Given the description of an element on the screen output the (x, y) to click on. 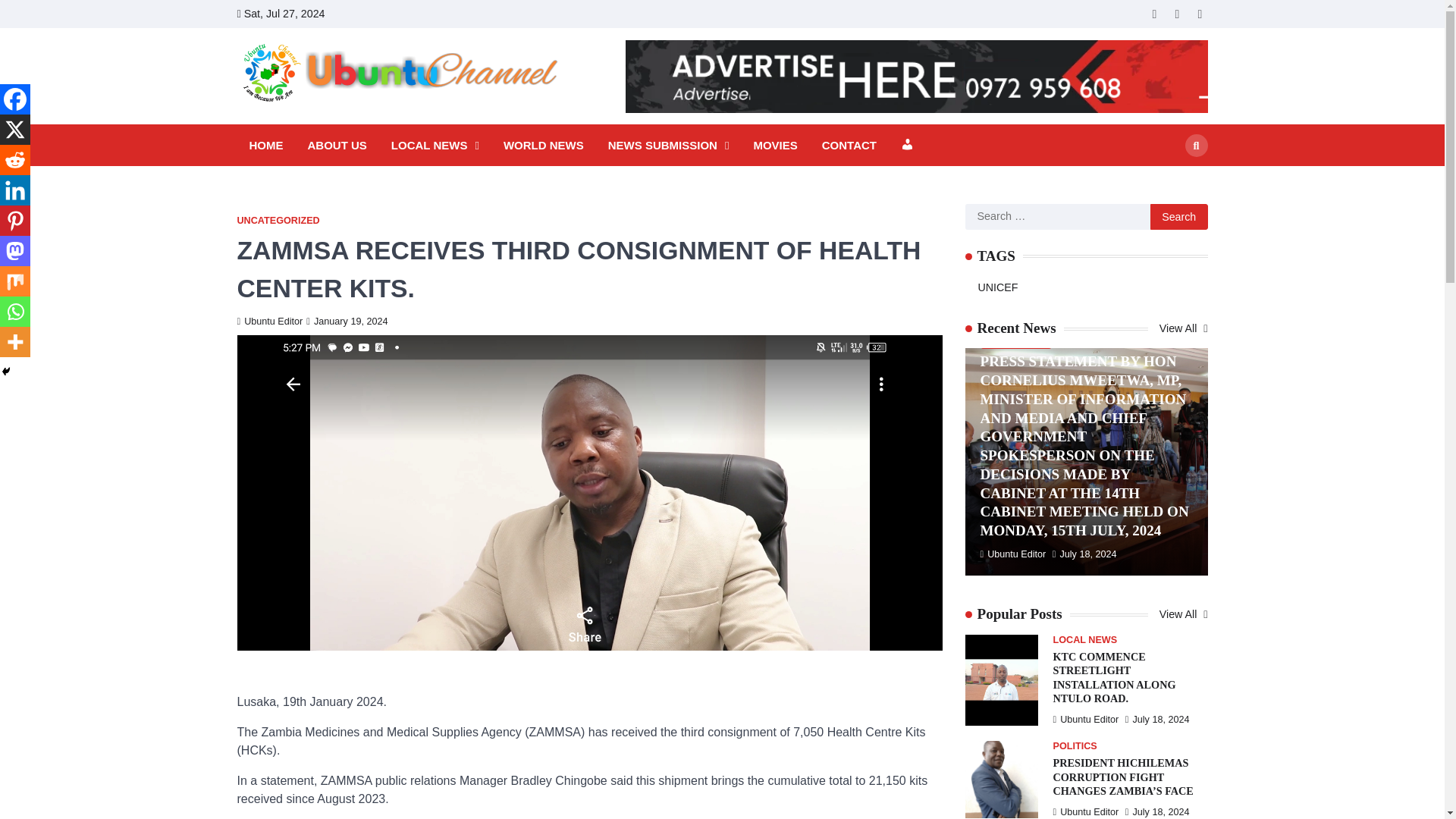
January 19, 2024 (346, 321)
Search (1179, 216)
X (15, 129)
Facebook (1177, 14)
Reddit (15, 159)
LOCAL NEWS (434, 145)
Facebook (15, 99)
CONTACT (848, 145)
ABOUT US (336, 145)
YouTube (1199, 14)
